Given the description of an element on the screen output the (x, y) to click on. 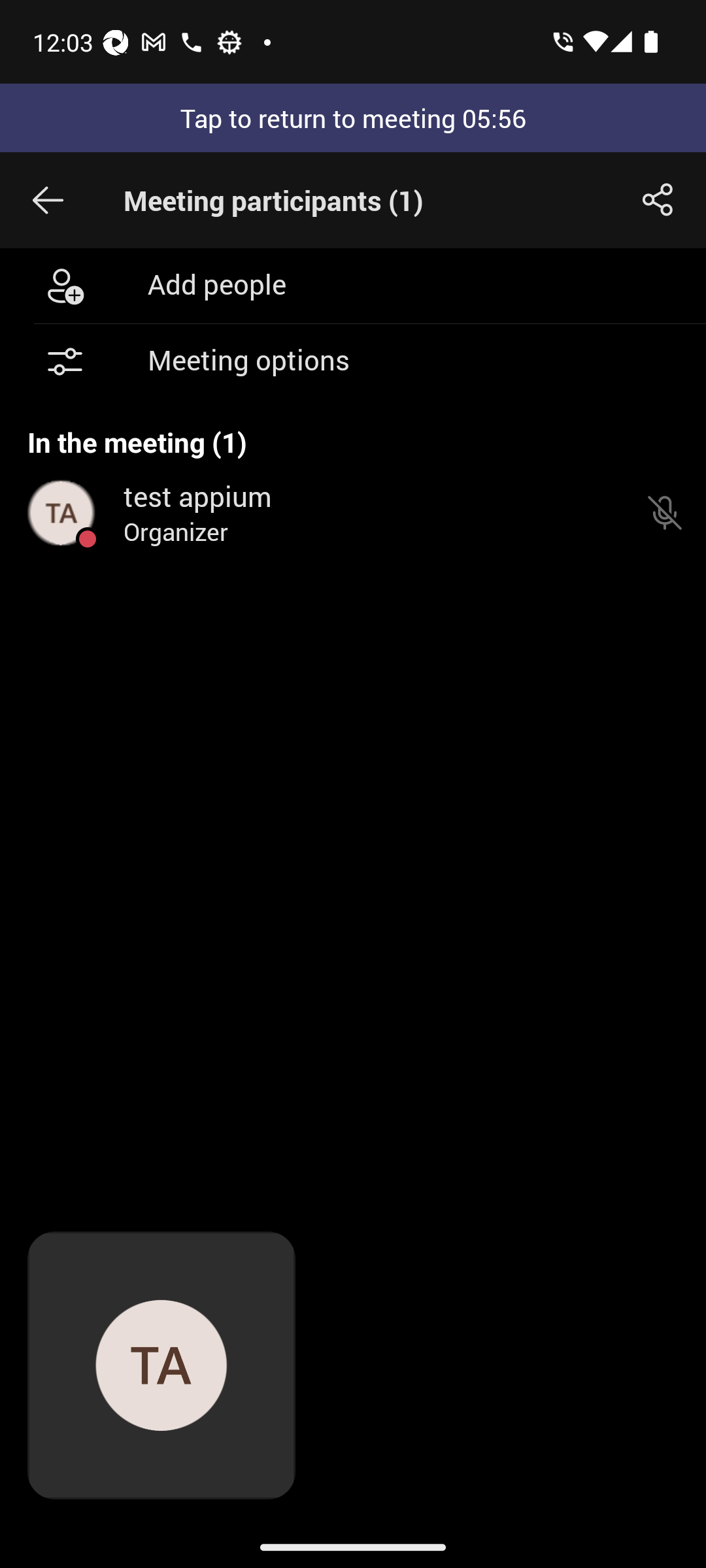
Tap to return to meeting 05:56 (353, 117)
Back (48, 199)
Share meeting invite (657, 199)
Add people (353, 285)
Meeting options (353, 361)
